Given the description of an element on the screen output the (x, y) to click on. 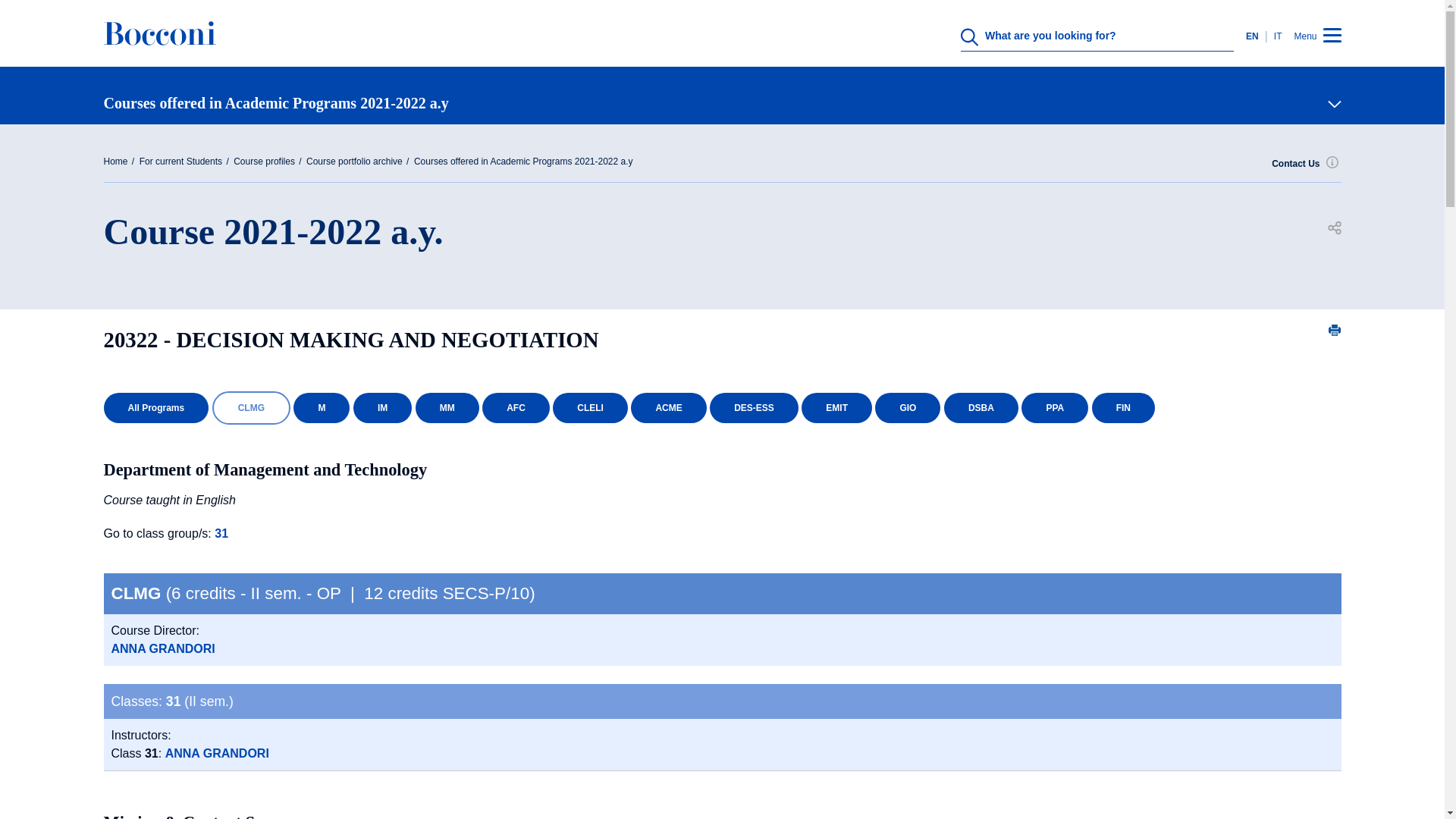
IT (1275, 36)
About Us (716, 328)
EN (1255, 36)
English (1255, 36)
Italian (1275, 36)
Applying to Bocconi (716, 625)
Programs (716, 402)
Campus (716, 551)
Home (159, 43)
Faculty and Research (716, 476)
